Given the description of an element on the screen output the (x, y) to click on. 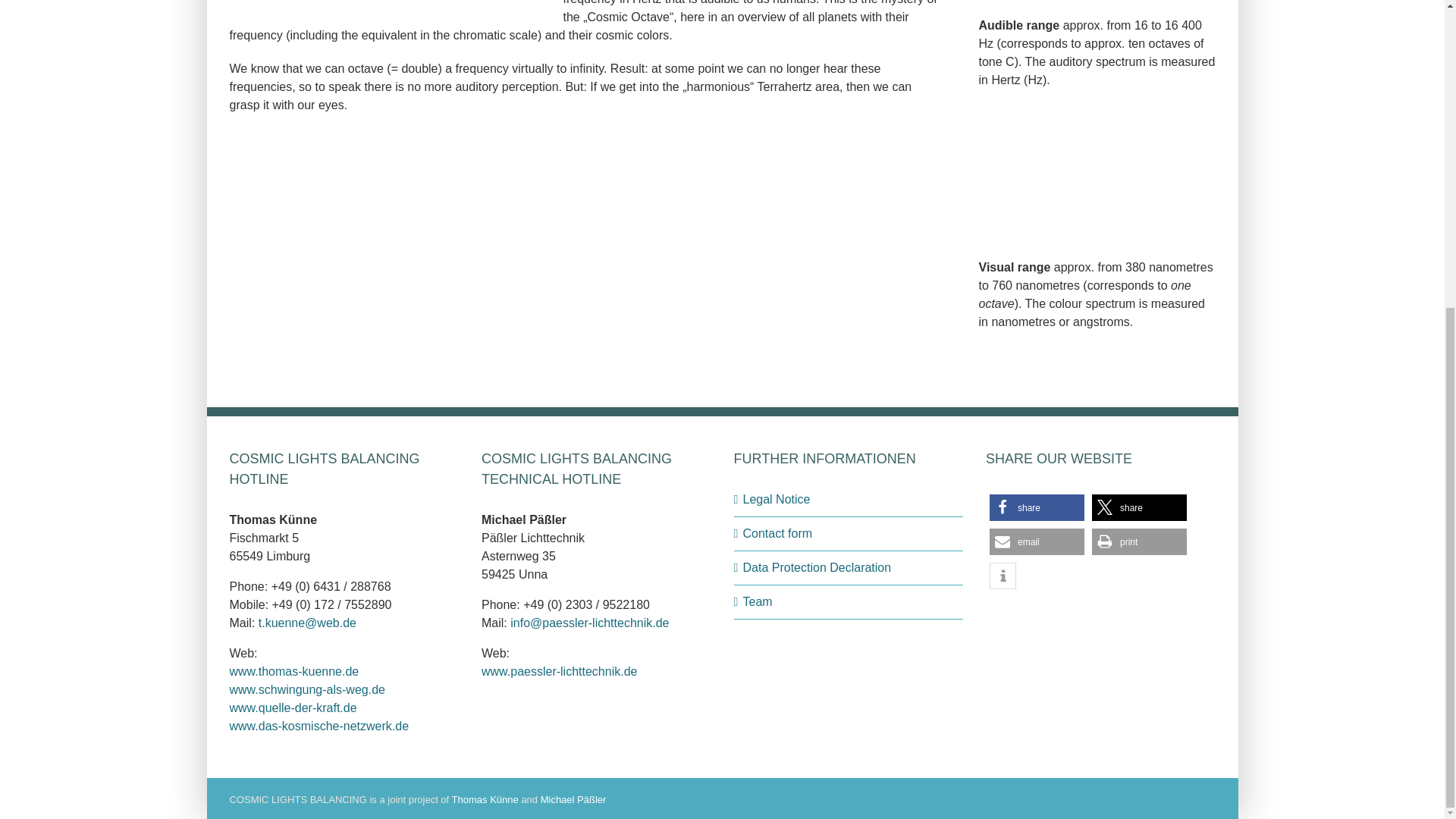
Send by email (1037, 541)
Contact form (849, 533)
Legal Notice (849, 499)
www.paessler-lichttechnik.de (559, 671)
Share on X (1139, 507)
www.das-kosmische-netzwerk.de (318, 725)
www.schwingung-als-weg.de (306, 689)
More information (1003, 575)
print (1139, 541)
www.thomas-kuenne.de (293, 671)
Share on Facebook (1037, 507)
www.quelle-der-kraft.de (292, 707)
